Given the description of an element on the screen output the (x, y) to click on. 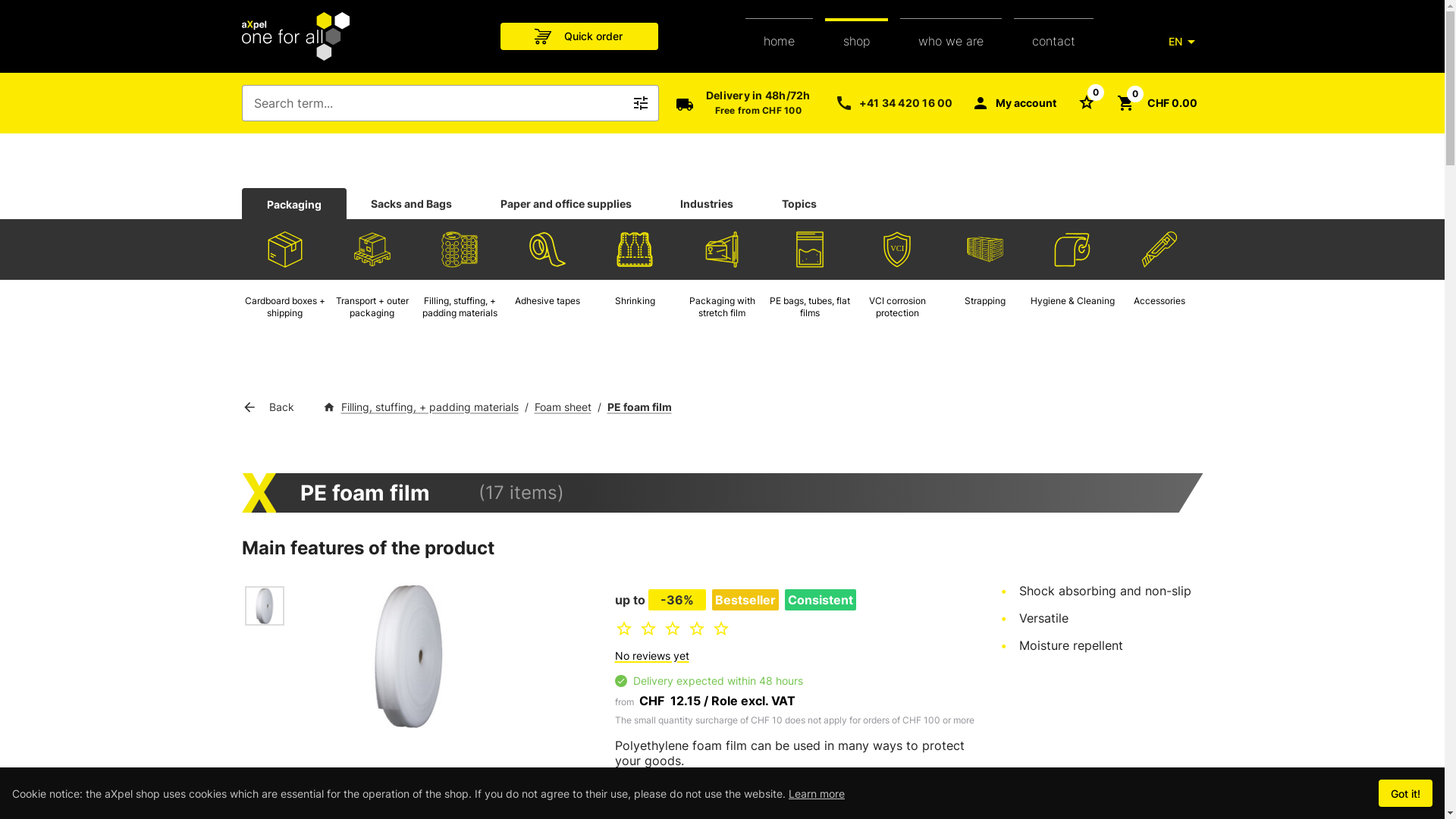
Adhesive tapes Element type: hover (547, 249)
Quick order Element type: text (579, 36)
PE foam film Element type: hover (263, 605)
who we are Element type: text (950, 36)
Topics Element type: text (798, 203)
Shrinking Element type: text (634, 281)
Foam sheet Element type: text (561, 406)
Strapping Element type: hover (984, 249)
Hygiene & Cleaning Element type: hover (1072, 249)
Adhesive tapes Element type: text (547, 281)
My account Element type: text (1012, 102)
Paper and office supplies Element type: text (565, 203)
PE foam film Element type: text (638, 406)
home Element type: text (778, 40)
0 Element type: text (1085, 101)
0
CHF 0.00 Element type: text (1156, 102)
PE bags, tubes, flat films Element type: hover (809, 249)
My account Element type: text (1012, 103)
Packaging Element type: text (293, 203)
Transport + outer packaging Element type: hover (372, 249)
Packaging with stretch film Element type: hover (721, 249)
Transport + outer packaging Element type: text (372, 281)
Filling, stuffing, + padding materials Element type: hover (459, 249)
Accessories Element type: hover (1159, 249)
Shrinking Element type: hover (634, 249)
Strapping Element type: text (984, 281)
VCI corrosion protection Element type: hover (896, 249)
Hygiene & Cleaning Element type: text (1072, 281)
Industries Element type: text (705, 203)
No reviews yet Element type: text (651, 655)
Learn more Element type: text (816, 793)
VCI corrosion protection Element type: text (896, 281)
shop Element type: text (856, 40)
Filling, stuffing, + padding materials Element type: text (459, 281)
Filling, stuffing, + padding materials Element type: text (429, 406)
EN Element type: text (1184, 41)
contact Element type: text (1053, 40)
Cardboard boxes + shipping Element type: text (284, 281)
Cardboard boxes + shipping Element type: hover (284, 249)
contact Element type: text (1053, 36)
Accessories Element type: text (1159, 281)
shop Element type: text (856, 36)
Sacks and Bags Element type: text (410, 203)
PE bags, tubes, flat films Element type: text (809, 281)
home Element type: text (778, 36)
Packaging with stretch film Element type: text (721, 281)
Got it! Element type: text (1405, 792)
Back Element type: text (269, 406)
